Given the description of an element on the screen output the (x, y) to click on. 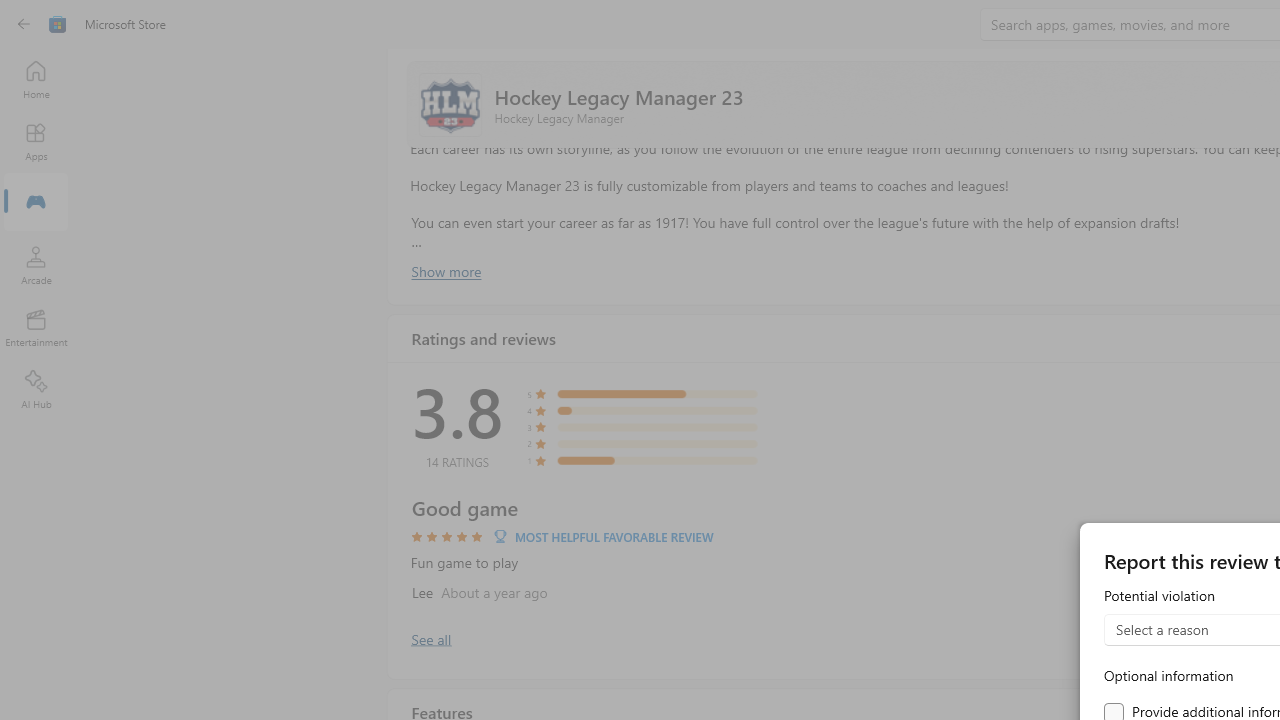
Back (24, 24)
Show all ratings and reviews (430, 637)
Show more (445, 271)
